Given the description of an element on the screen output the (x, y) to click on. 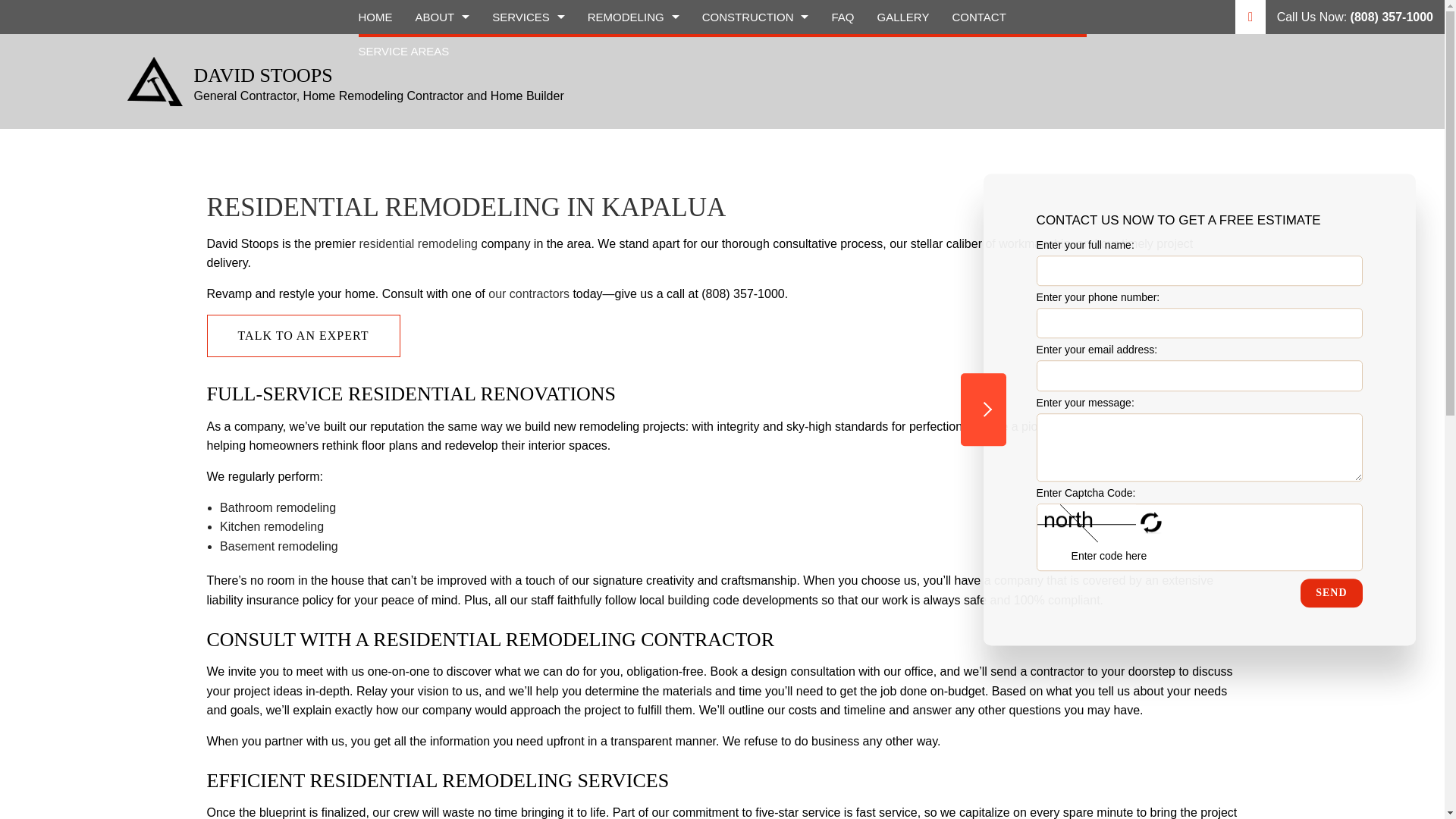
Phone Number (1199, 322)
Your Message (1199, 447)
Captcha Code (1137, 556)
Full Name (1199, 270)
Email Address (1199, 376)
David Stoops (155, 80)
Learn more about our General Contractor services (528, 293)
Learn more about Residential Remodeling (417, 242)
Refresh Captcha (1151, 522)
